Given the description of an element on the screen output the (x, y) to click on. 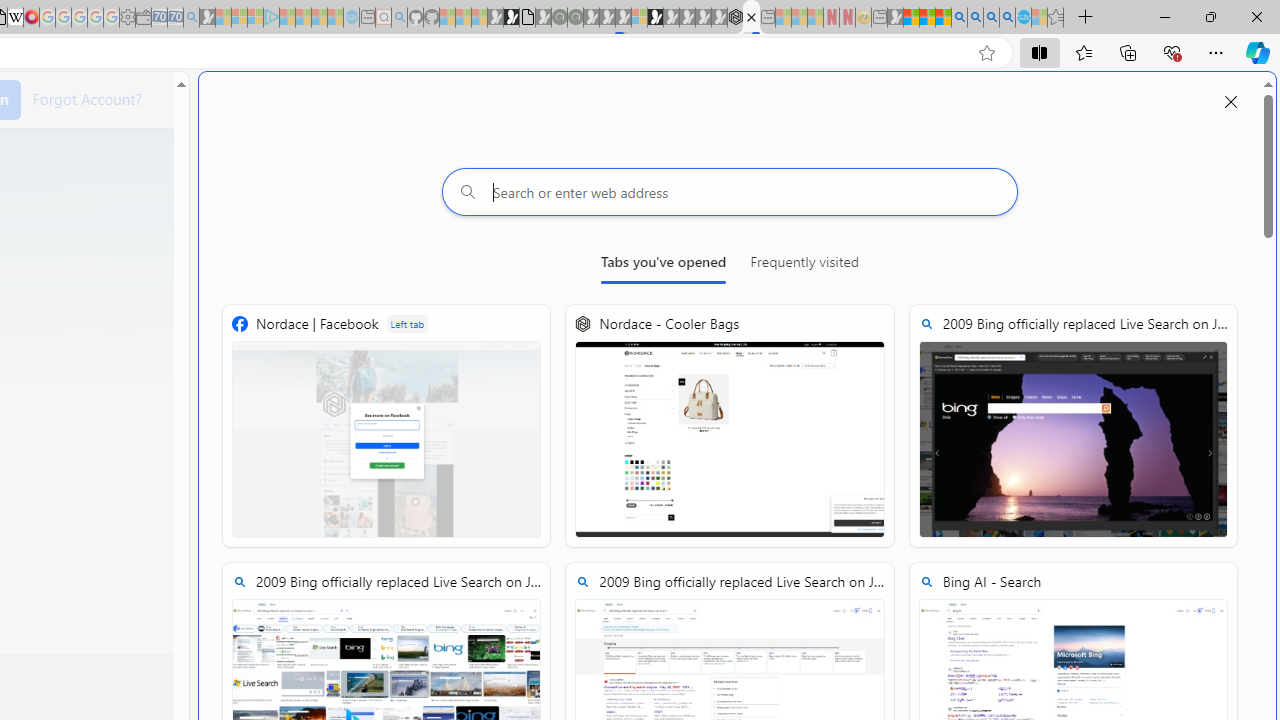
Nordace | Facebook (386, 426)
Bing Real Estate - Home sales and rental listings - Sleeping (191, 17)
